Given the description of an element on the screen output the (x, y) to click on. 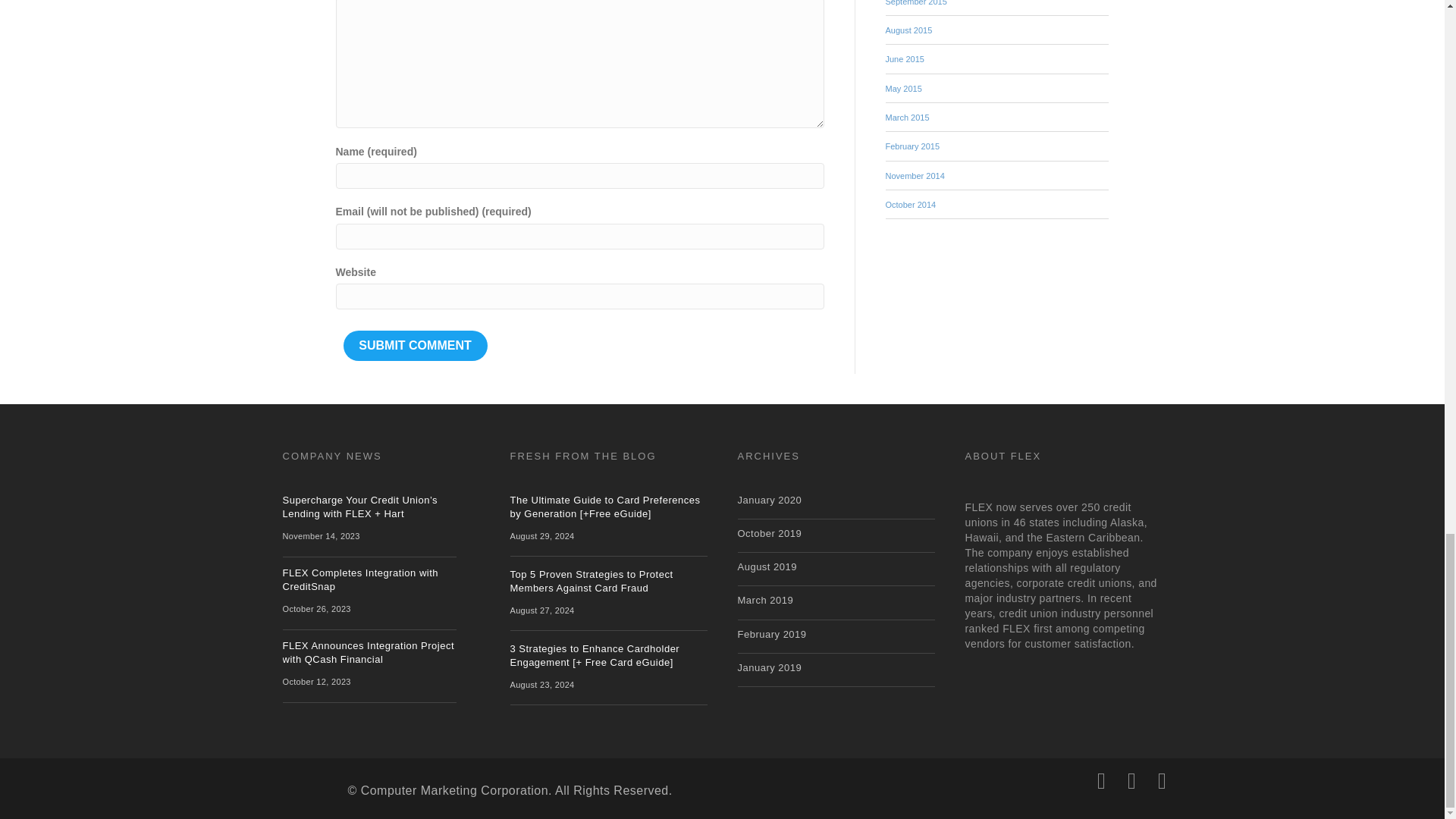
Submit Comment (414, 345)
March 2019 (764, 600)
January 2020 (769, 500)
October 2019 (769, 532)
February 2019 (771, 633)
FLEX Announces Integration Project with QCash Financial (368, 652)
January 2019 (769, 667)
August 2019 (766, 566)
FLEX Completes Integration with CreditSnap (360, 579)
